Given the description of an element on the screen output the (x, y) to click on. 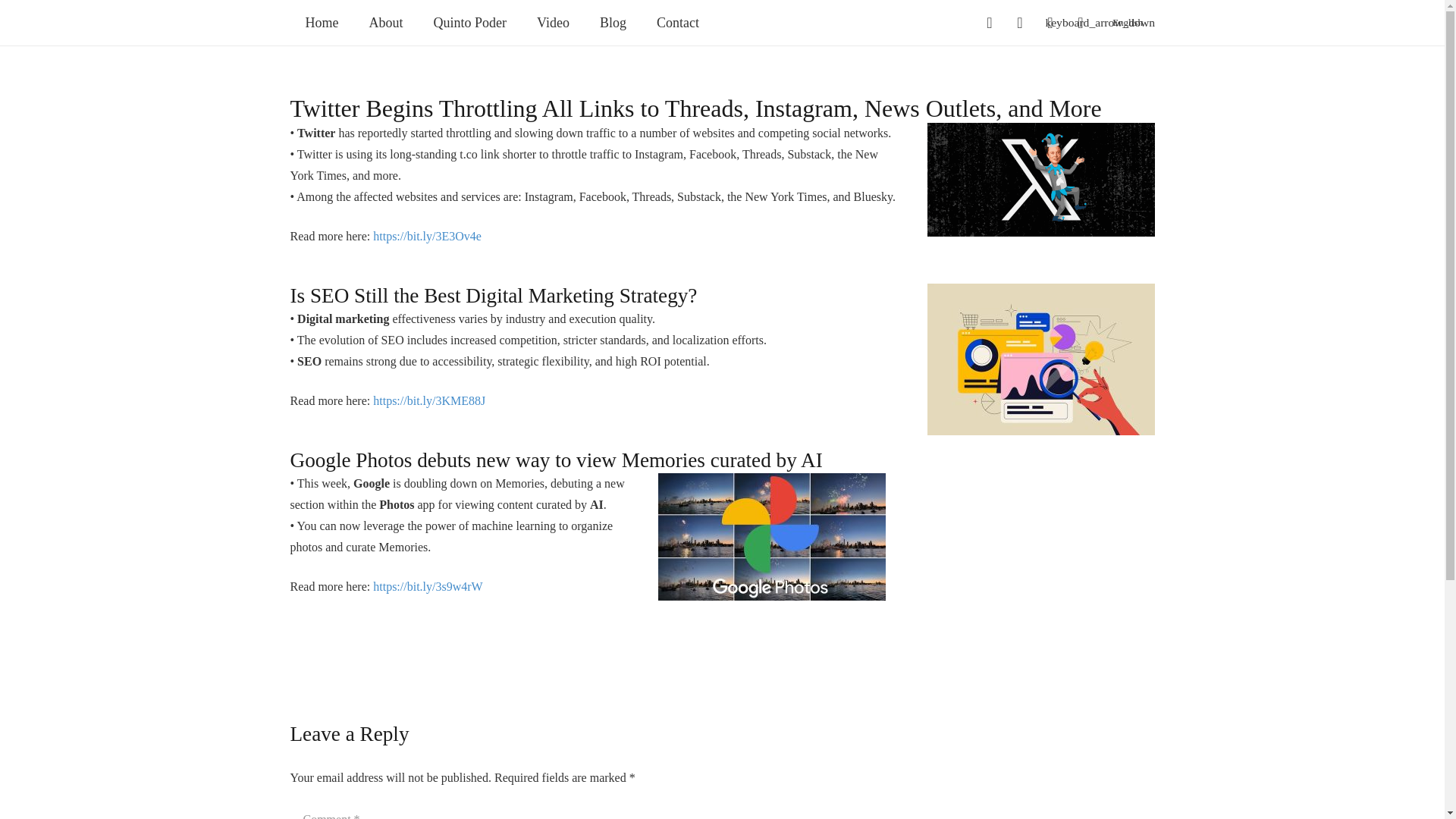
Contact (678, 22)
Home (321, 22)
Twitter (1019, 22)
English (1132, 22)
About (385, 22)
Video (553, 22)
LinkedIn (1050, 22)
YouTube (1080, 22)
Blog (613, 22)
Facebook (989, 22)
Quinto Poder (470, 22)
